Given the description of an element on the screen output the (x, y) to click on. 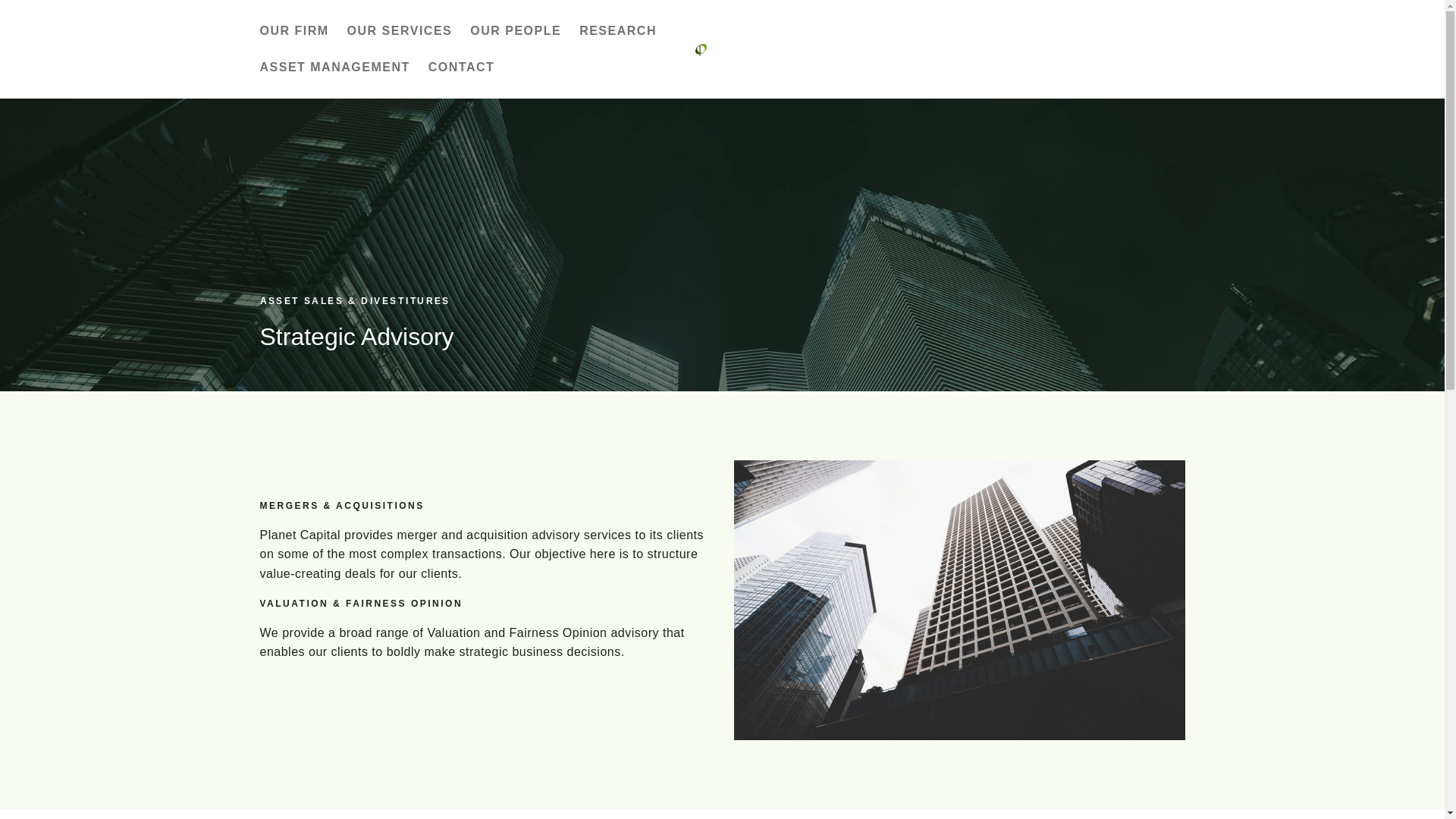
OUR SERVICES (399, 31)
ASSET MANAGEMENT (334, 67)
OUR PEOPLE (515, 31)
RESEARCH (617, 31)
CONTACT (461, 67)
OUR FIRM (293, 31)
